Given the description of an element on the screen output the (x, y) to click on. 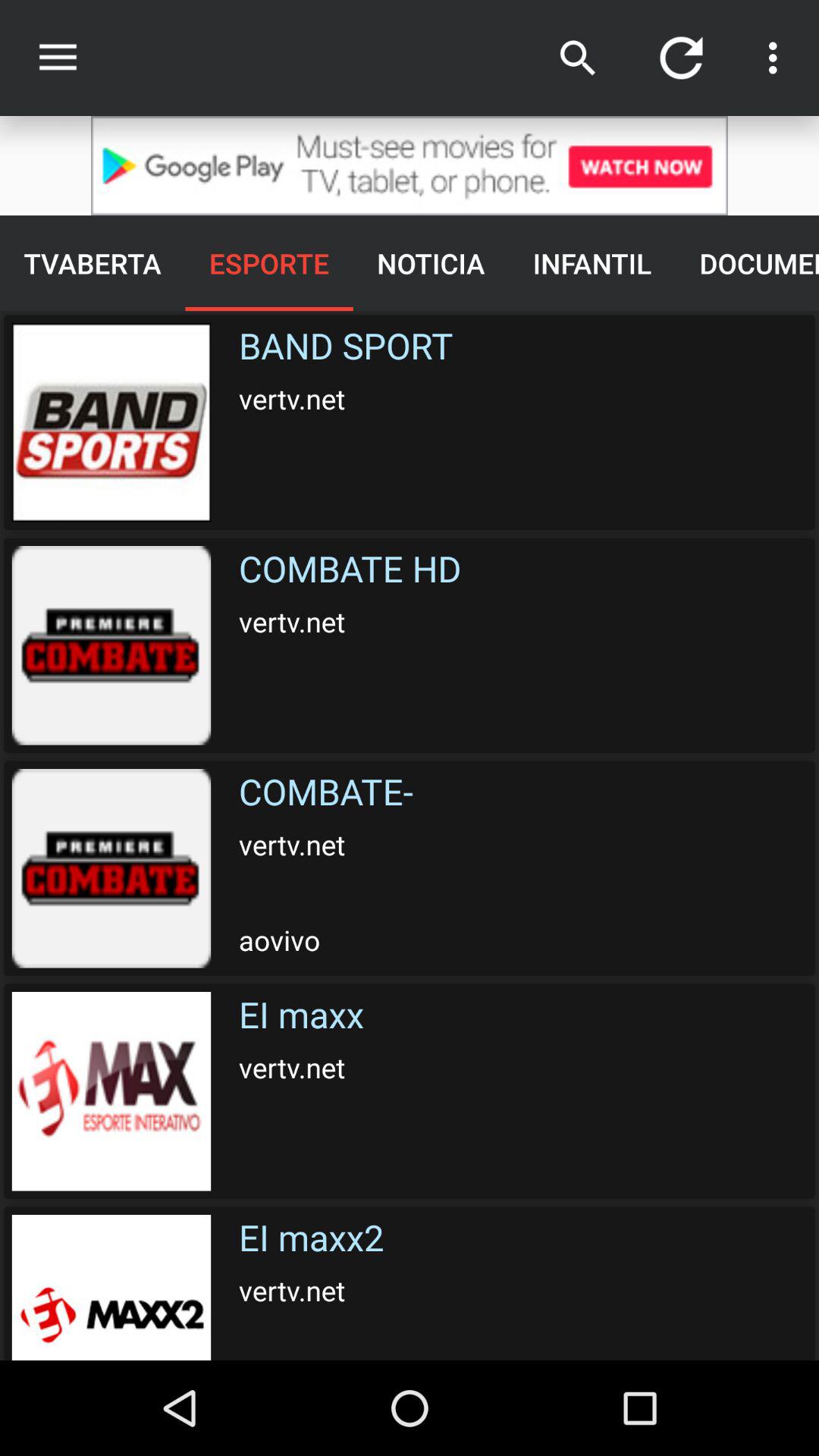
click on the refresh button (681, 58)
select the text below band sport (529, 645)
select text above the ei maxx2 vertvnet (529, 1091)
click on the button next to refresh button (776, 58)
